Given the description of an element on the screen output the (x, y) to click on. 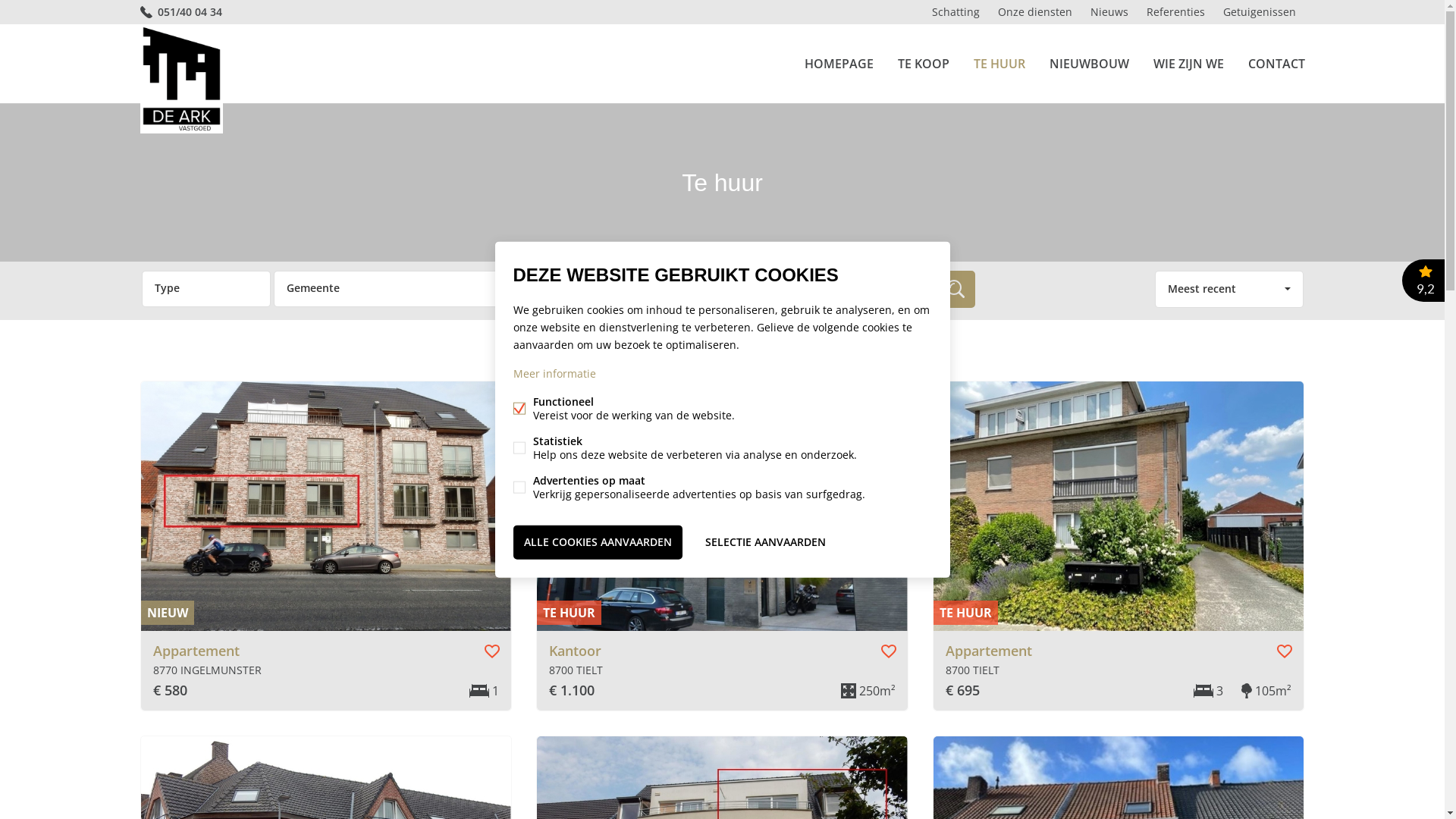
Schatting Element type: text (955, 12)
Onze diensten Element type: text (1034, 12)
TE KOOP Element type: text (923, 63)
Meer informatie Element type: text (553, 373)
Favoriet Element type: text (491, 651)
CONTACT Element type: text (1276, 63)
Referenties Element type: text (1175, 12)
ALLE COOKIES AANVAARDEN Element type: text (596, 542)
WIE ZIJN WE Element type: text (1187, 63)
HOMEPAGE Element type: text (837, 63)
TE HUUR Element type: text (999, 63)
Favoriet Element type: text (1284, 651)
SELECTIE AANVAARDEN Element type: text (765, 542)
Getuigenissen Element type: text (1258, 12)
051/40 04 34 Element type: text (180, 12)
Nieuws Element type: text (1109, 12)
NIEUWBOUW Element type: text (1089, 63)
Favoriet Element type: text (888, 651)
